Given the description of an element on the screen output the (x, y) to click on. 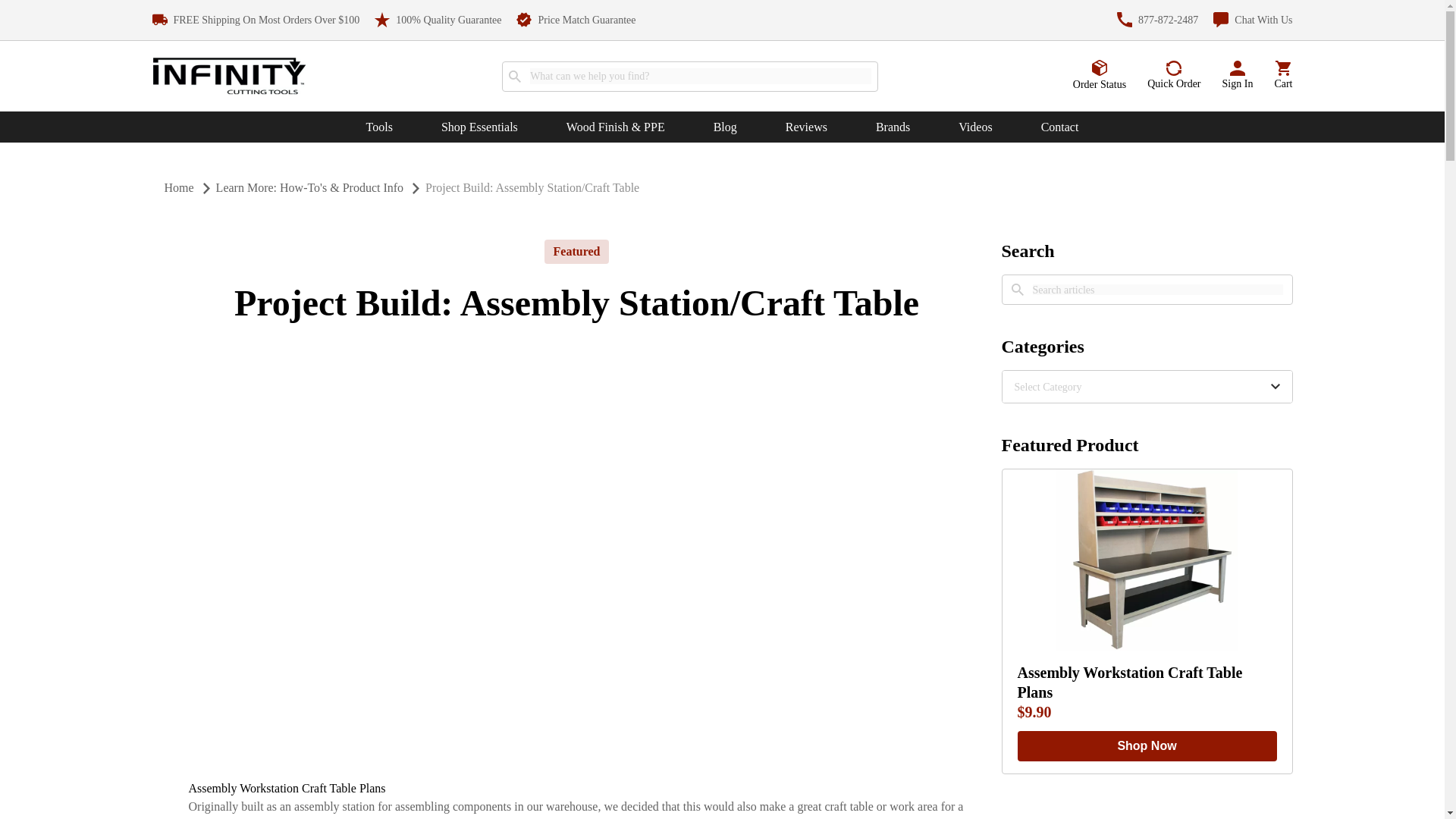
Tools (379, 126)
Chat With Us (1252, 19)
877-872-2487 (1157, 19)
Quick Order (1173, 75)
Order Status (1099, 75)
Sign In (1238, 75)
